Given the description of an element on the screen output the (x, y) to click on. 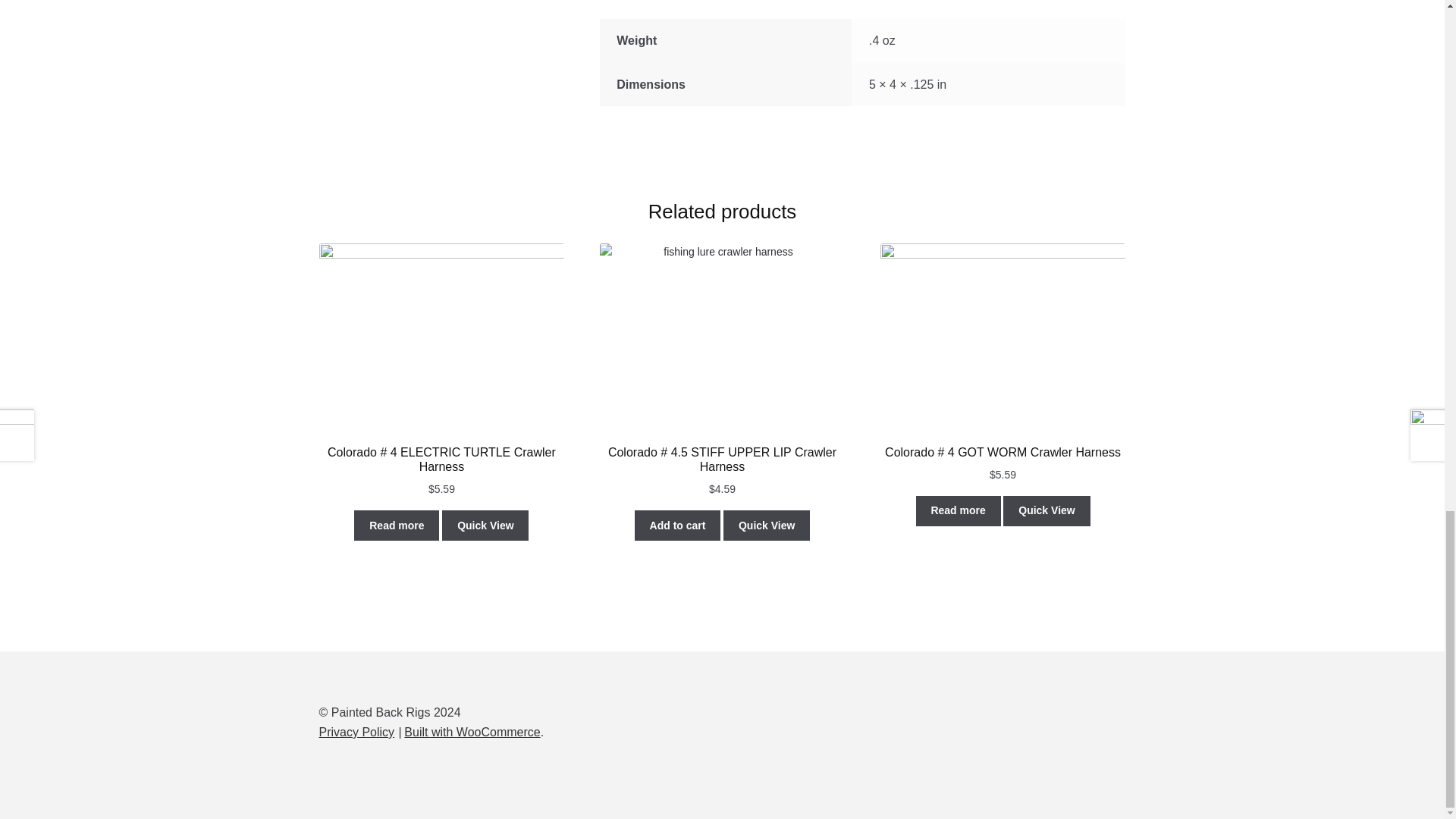
Quick View (485, 525)
Read more (958, 511)
Quick View (766, 525)
Read more (396, 525)
Add to cart (677, 525)
WooCommerce - The Best eCommerce Platform for WordPress (472, 731)
